Given the description of an element on the screen output the (x, y) to click on. 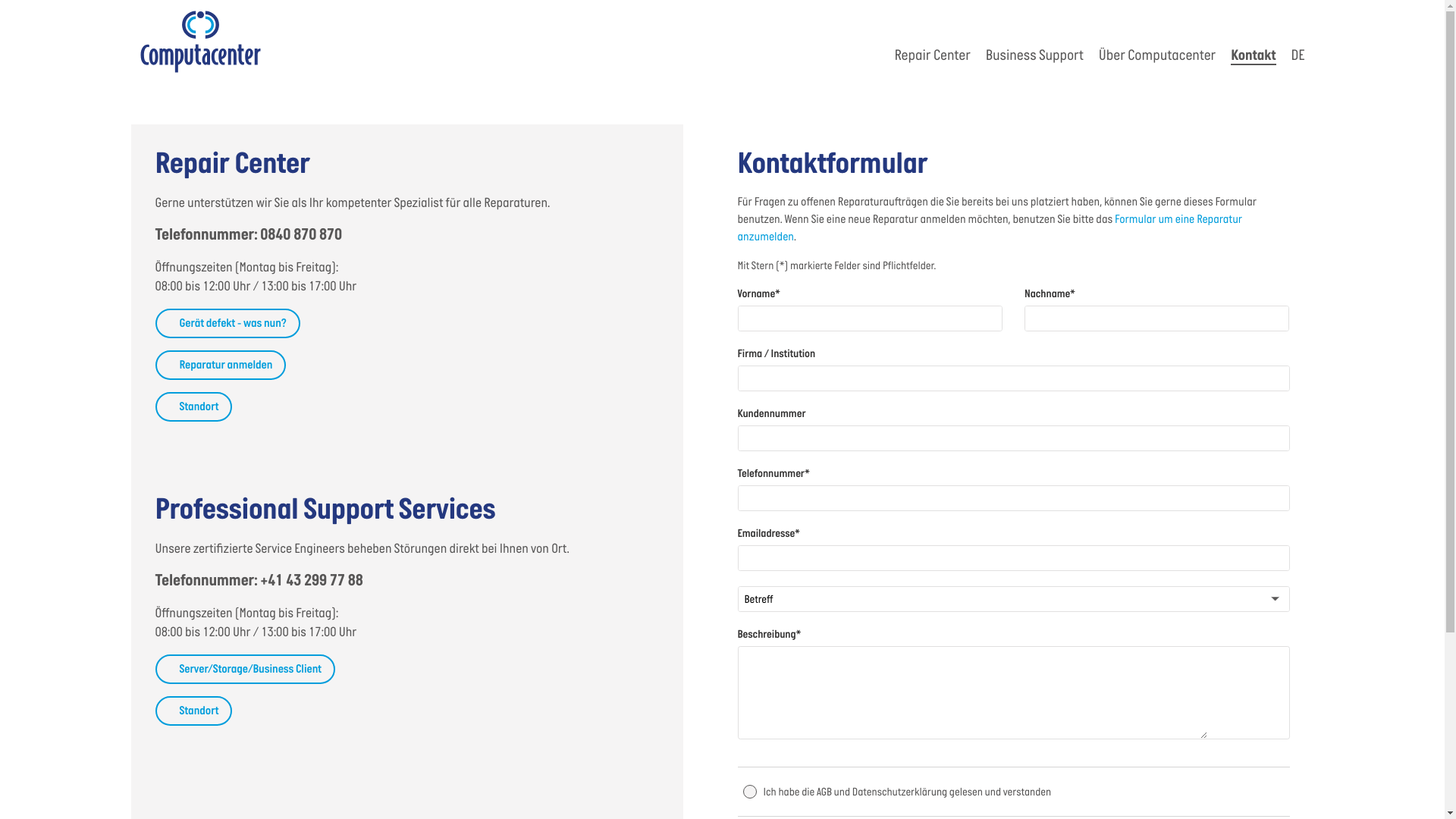
Server/Storage/Business Client Element type: text (244, 669)
Kontakt Element type: text (1252, 55)
DE Element type: text (1298, 55)
Repair Center Element type: text (931, 55)
EN Element type: text (689, 399)
IT Element type: text (843, 399)
Reparatur anmelden Element type: text (219, 364)
DE Element type: text (613, 399)
Standort Element type: text (193, 406)
Business Support Element type: text (1034, 55)
FR Element type: text (765, 399)
Formular um eine Reparatur anzumelden Element type: text (989, 228)
Standort Element type: text (193, 710)
